Given the description of an element on the screen output the (x, y) to click on. 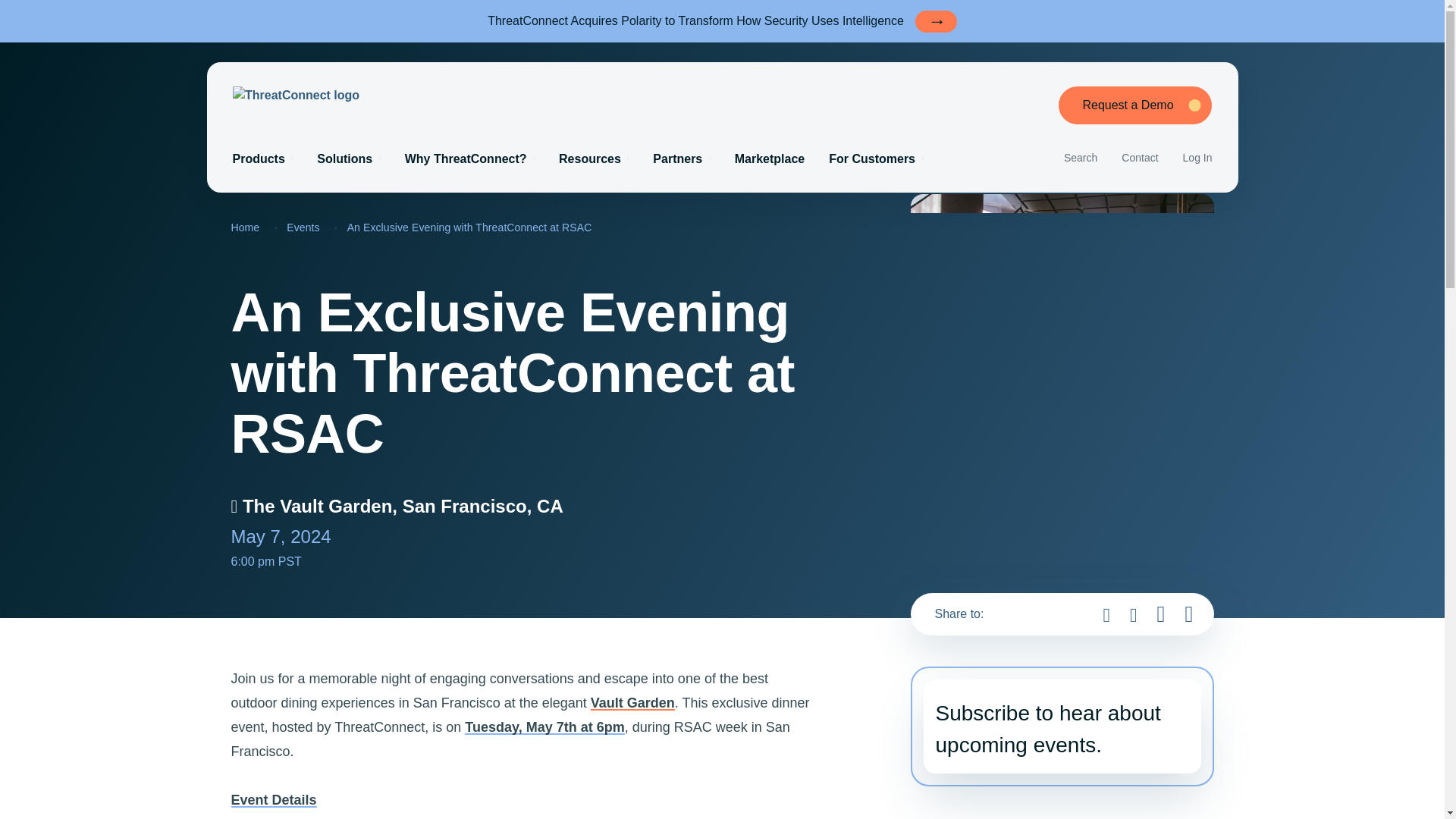
Why ThreatConnect? (469, 158)
ThreatConnect (375, 95)
Solutions (348, 158)
Products (261, 158)
Request a Demo (1134, 105)
